Given the description of an element on the screen output the (x, y) to click on. 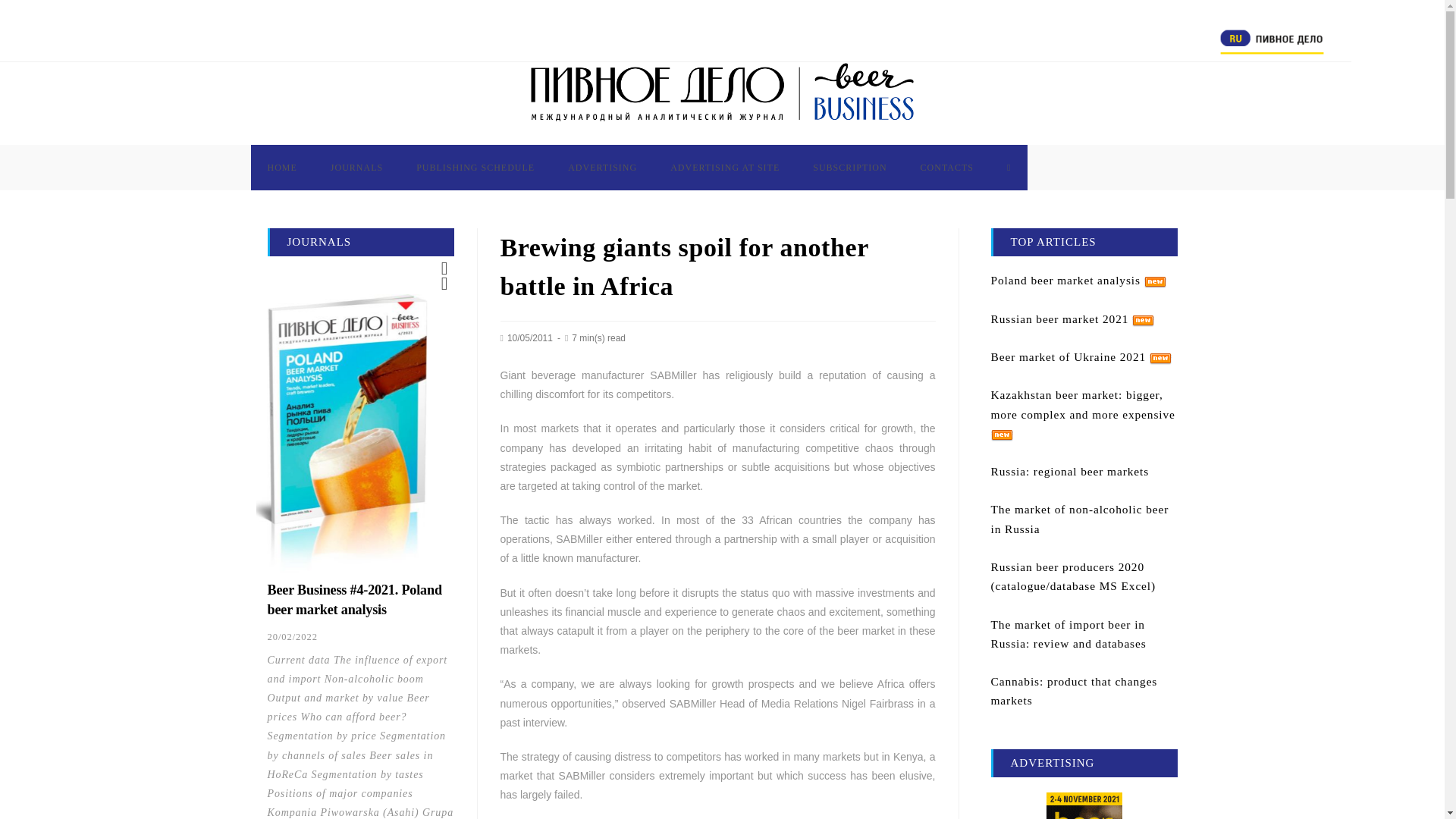
ADVERTISING AT SITE (724, 167)
JOURNALS (356, 167)
ADVERTISING (602, 167)
Previous (443, 268)
SUBSCRIPTION (849, 167)
Next (443, 283)
HOME (281, 167)
CONTACTS (947, 167)
PUBLISHING SCHEDULE (474, 167)
